Given the description of an element on the screen output the (x, y) to click on. 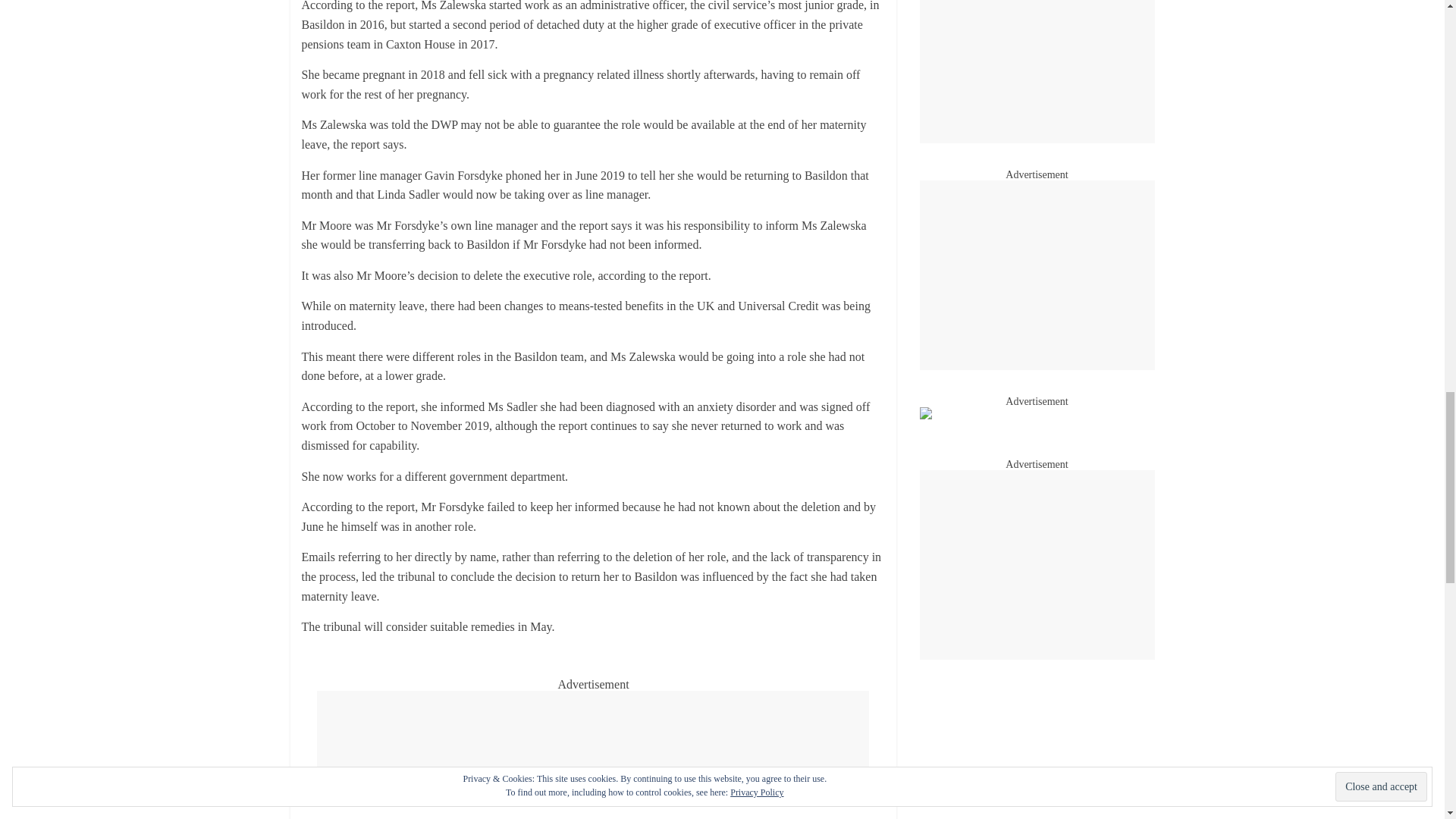
Share via Email (657, 784)
Print this Page (760, 784)
Share on Facebook (349, 784)
Share on LinkedIn (554, 784)
Share on Twitter (451, 784)
